Given the description of an element on the screen output the (x, y) to click on. 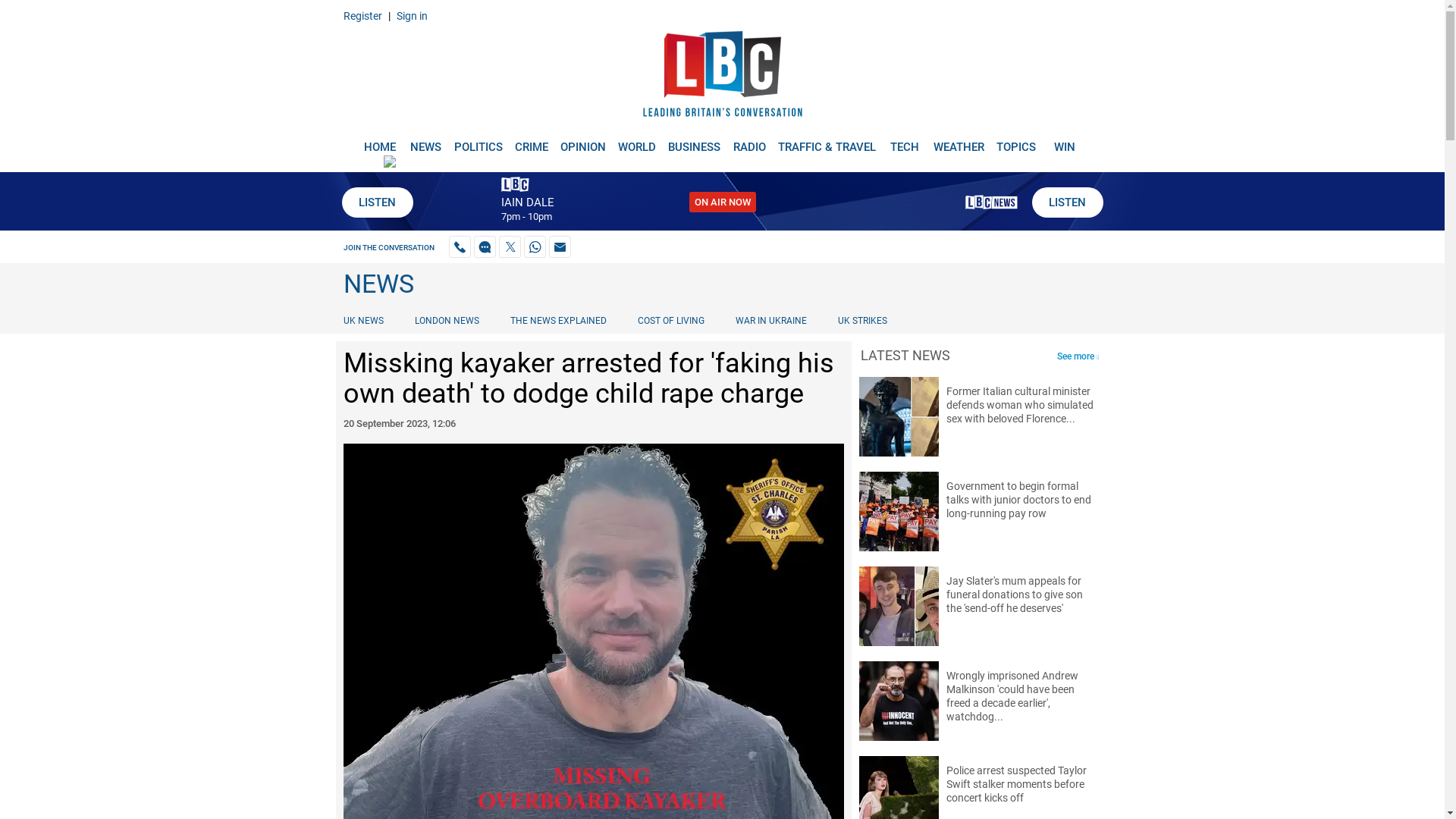
LONDON NEWS (446, 320)
TECH (904, 140)
HOME (379, 140)
OPINION (582, 140)
WAR IN UKRAINE (770, 320)
NEWS (425, 140)
LISTEN (1066, 202)
WIN (1064, 140)
TOPICS (1016, 140)
CRIME (531, 140)
WORLD (636, 140)
WEATHER (958, 140)
UK NEWS (365, 320)
LISTEN (376, 202)
UK STRIKES (862, 320)
